Given the description of an element on the screen output the (x, y) to click on. 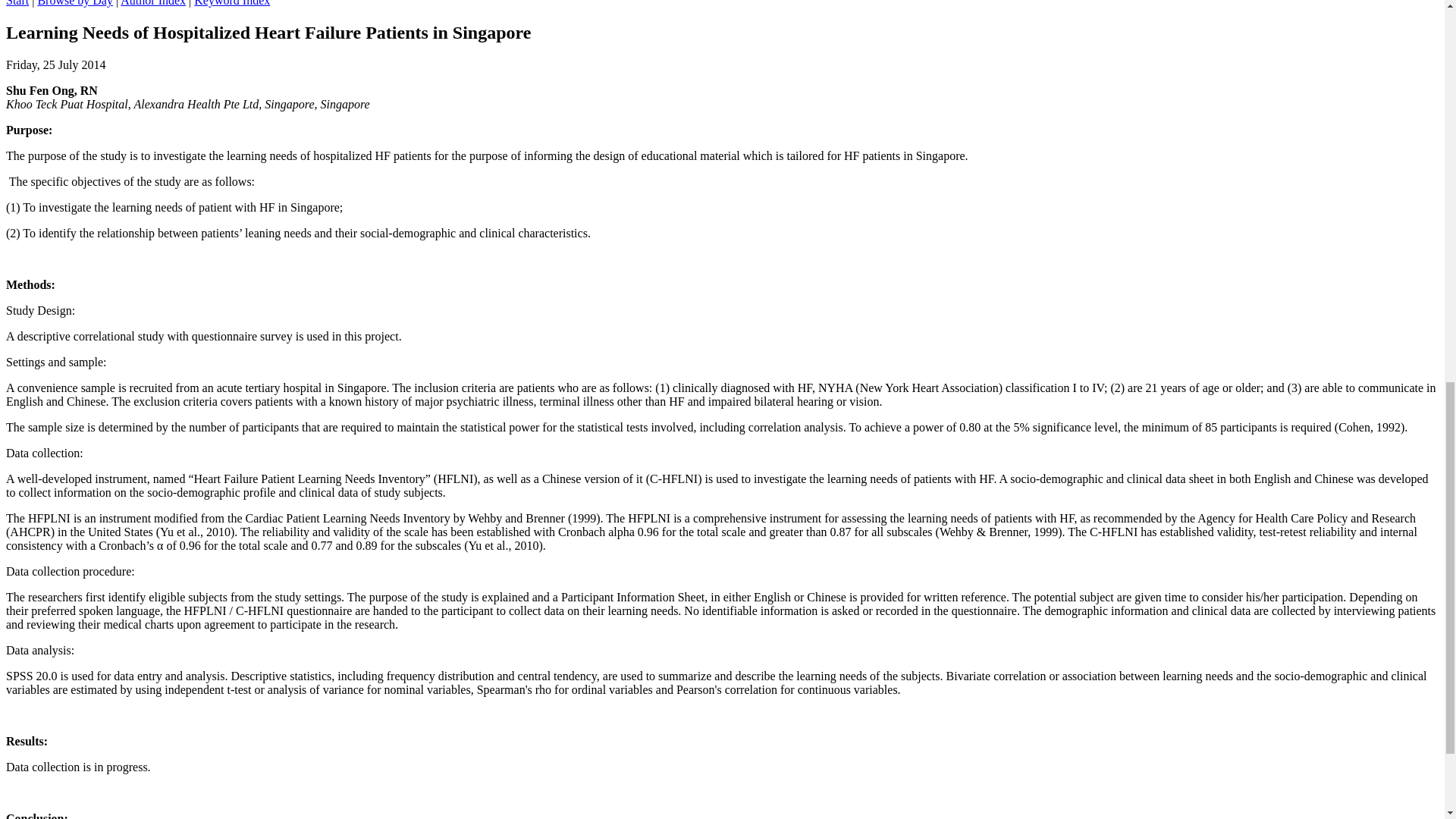
Keyword Index (231, 3)
Start (17, 3)
Browse by Day (75, 3)
Author Index (153, 3)
